Given the description of an element on the screen output the (x, y) to click on. 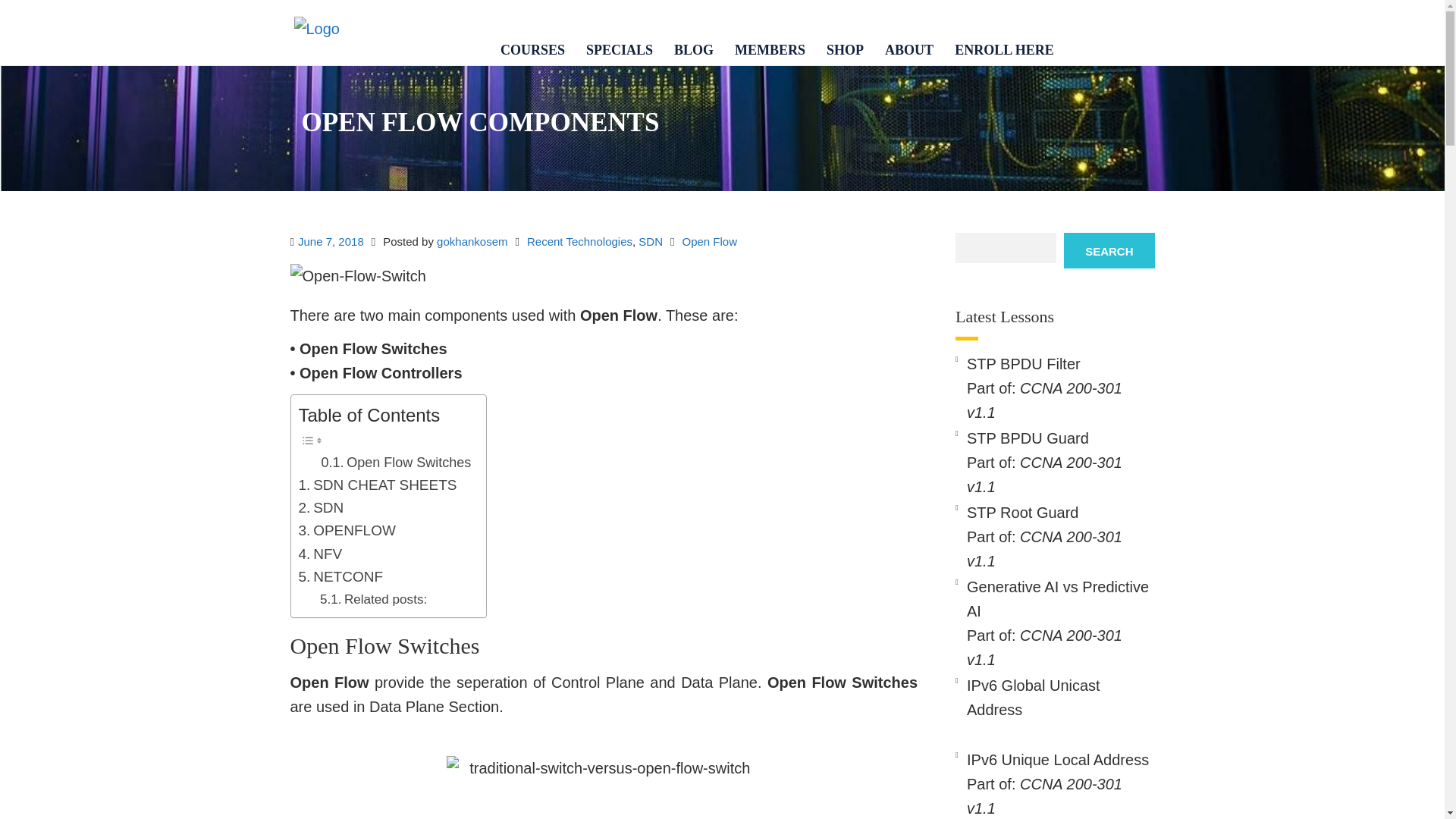
Open Flow Switches (396, 463)
Permalink to Open Flow Components (331, 241)
OPENFLOW (347, 530)
SDN (320, 507)
SDN CHEAT SHEETS (377, 485)
NFV (320, 553)
Related posts: (373, 598)
View all posts by gokhankosem (471, 241)
NETCONF (340, 576)
